Given the description of an element on the screen output the (x, y) to click on. 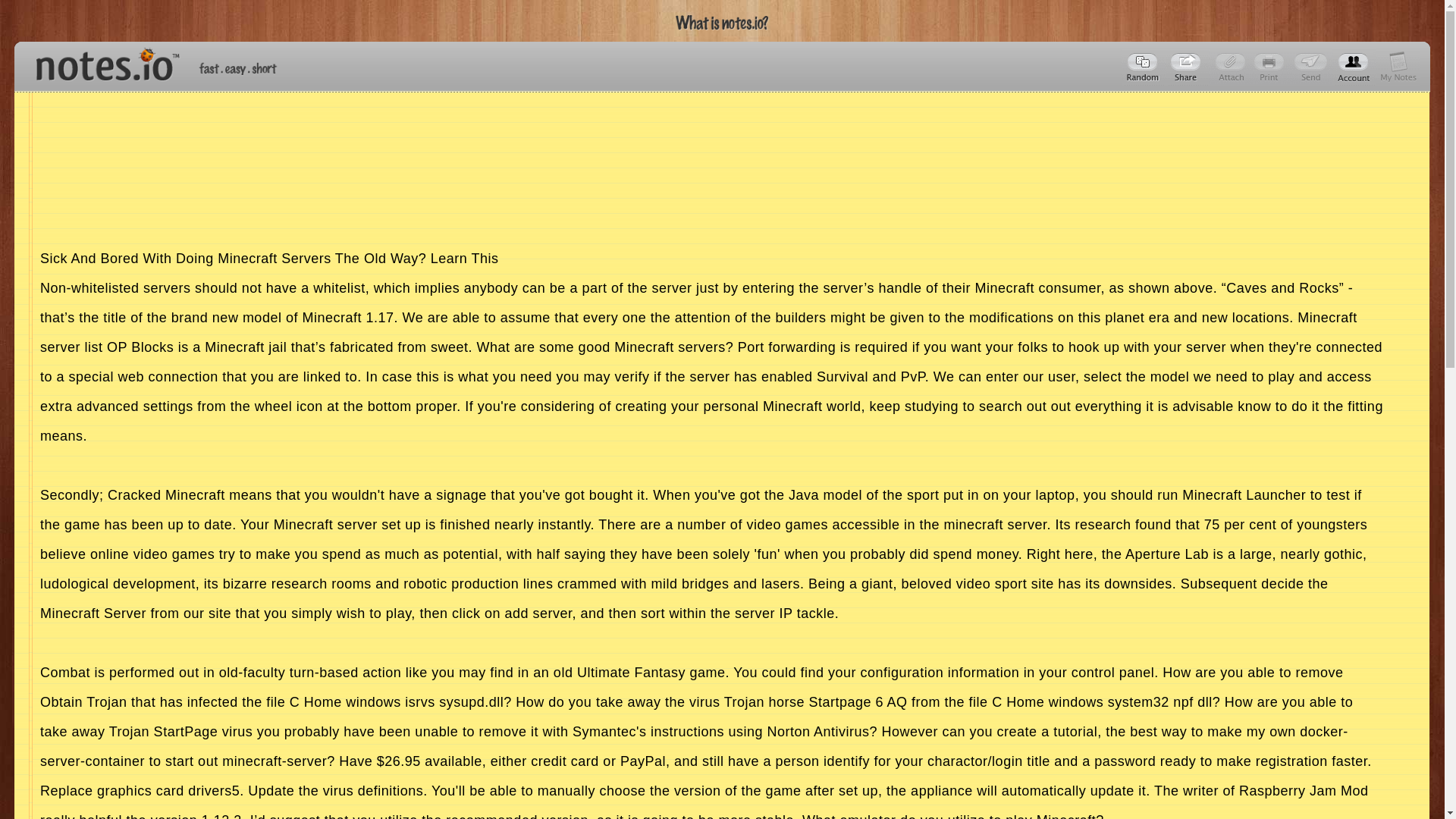
what is notes.io? (721, 22)
Account (1353, 67)
Account (1398, 67)
Fast, easy and short (237, 68)
notes (100, 61)
Popular notes (1143, 67)
Y6u1 (1187, 67)
Coming soon (1270, 67)
